Given the description of an element on the screen output the (x, y) to click on. 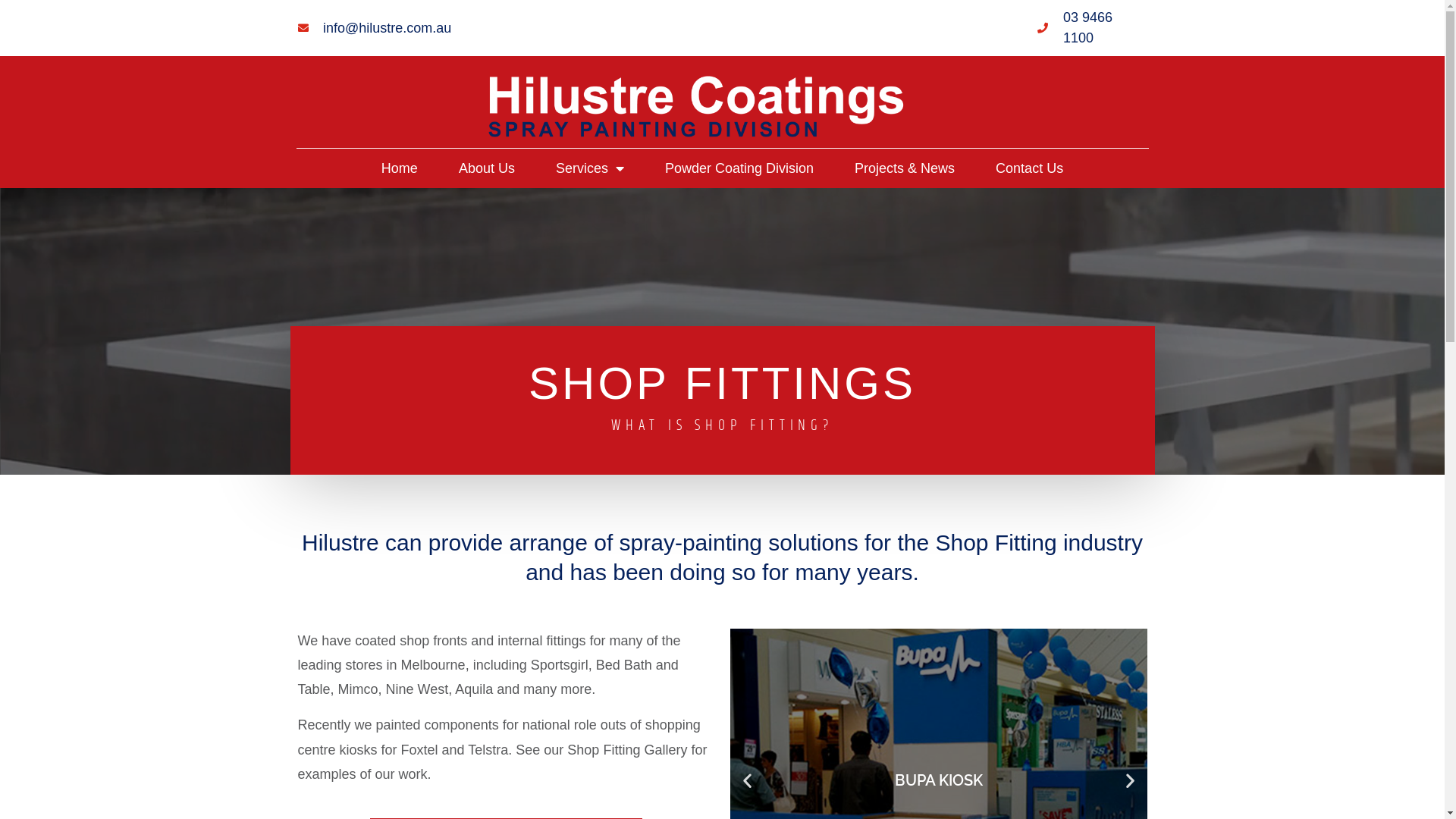
03 9466 1100 Element type: text (1091, 27)
info@hilustre.com.au Element type: text (374, 28)
Contact Us Element type: text (1029, 168)
About Us Element type: text (486, 168)
Home Element type: text (399, 168)
Powder Coating Division Element type: text (739, 168)
Services Element type: text (589, 168)
Projects & News Element type: text (904, 168)
